Given the description of an element on the screen output the (x, y) to click on. 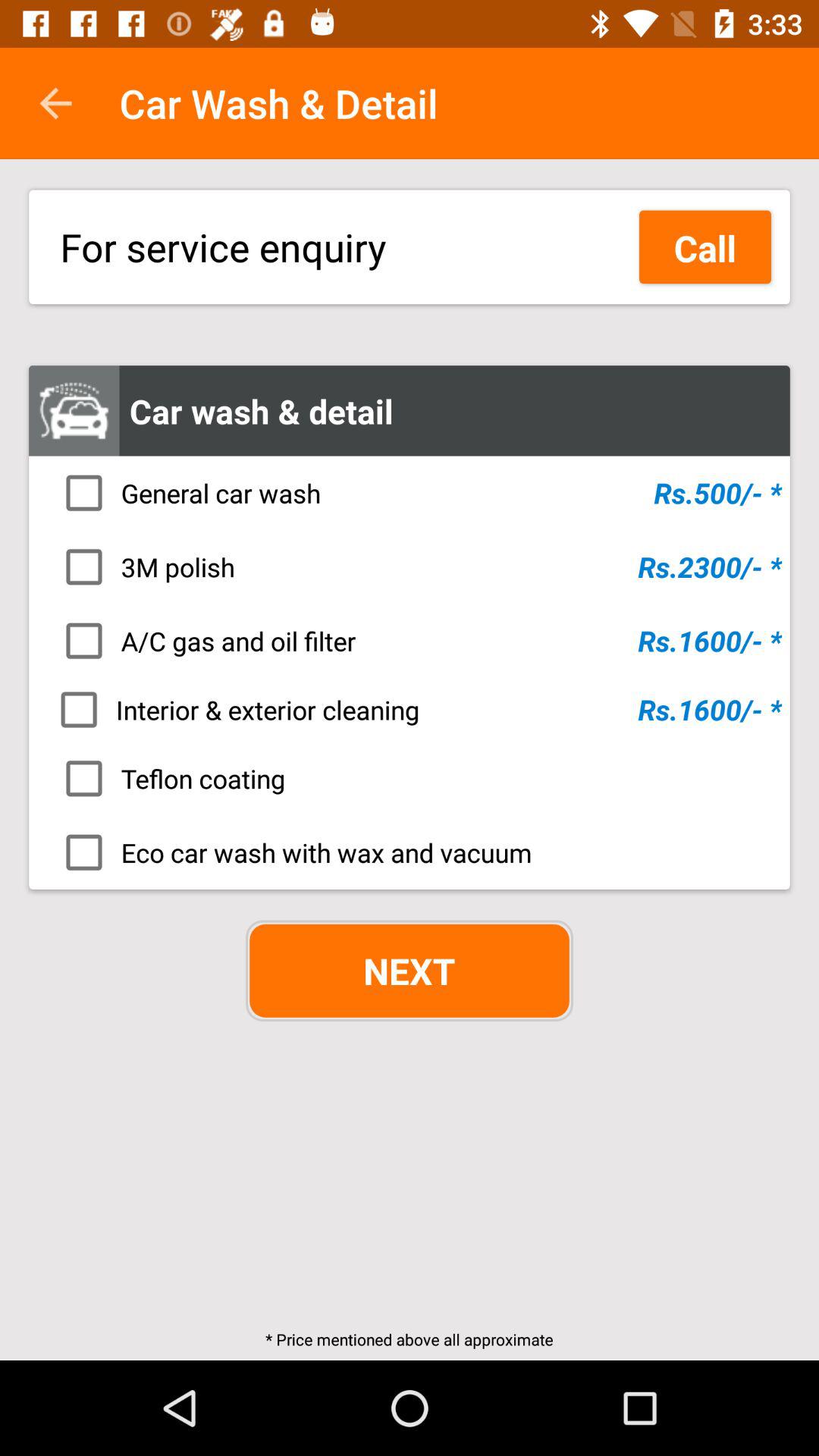
choose the icon to the right of the for service enquiry icon (704, 246)
